Given the description of an element on the screen output the (x, y) to click on. 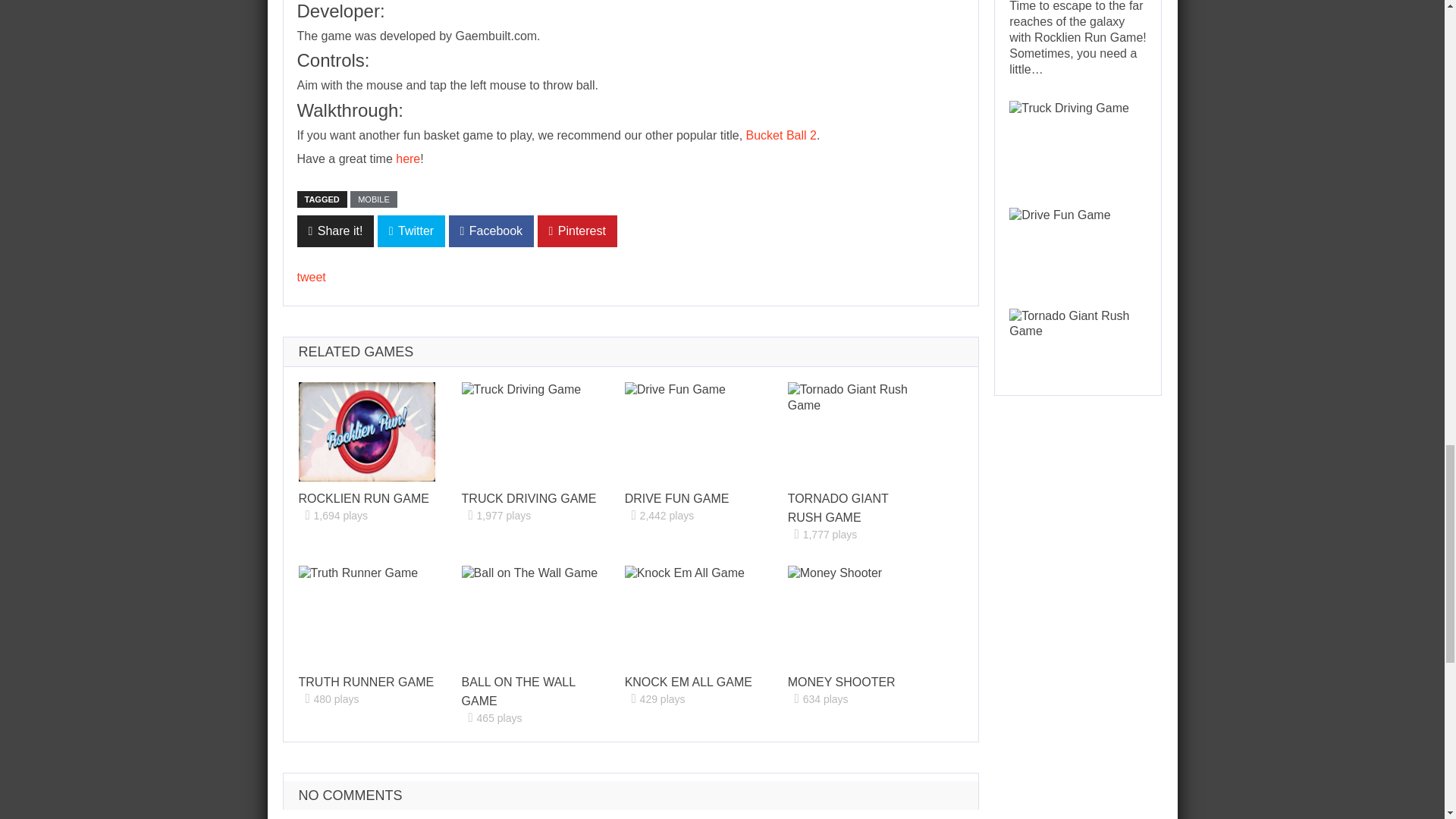
Truck Driving Game (529, 431)
Knock Em All Game (688, 681)
Drive Fun Game (676, 498)
Tornado Giant Rush Game (837, 508)
Ball on The Wall Game (518, 691)
Money Shooter (855, 615)
TORNADO GIANT RUSH GAME (837, 508)
Knock Em All Game (692, 615)
Twitter (411, 231)
Drive Fun Game (692, 431)
